Given the description of an element on the screen output the (x, y) to click on. 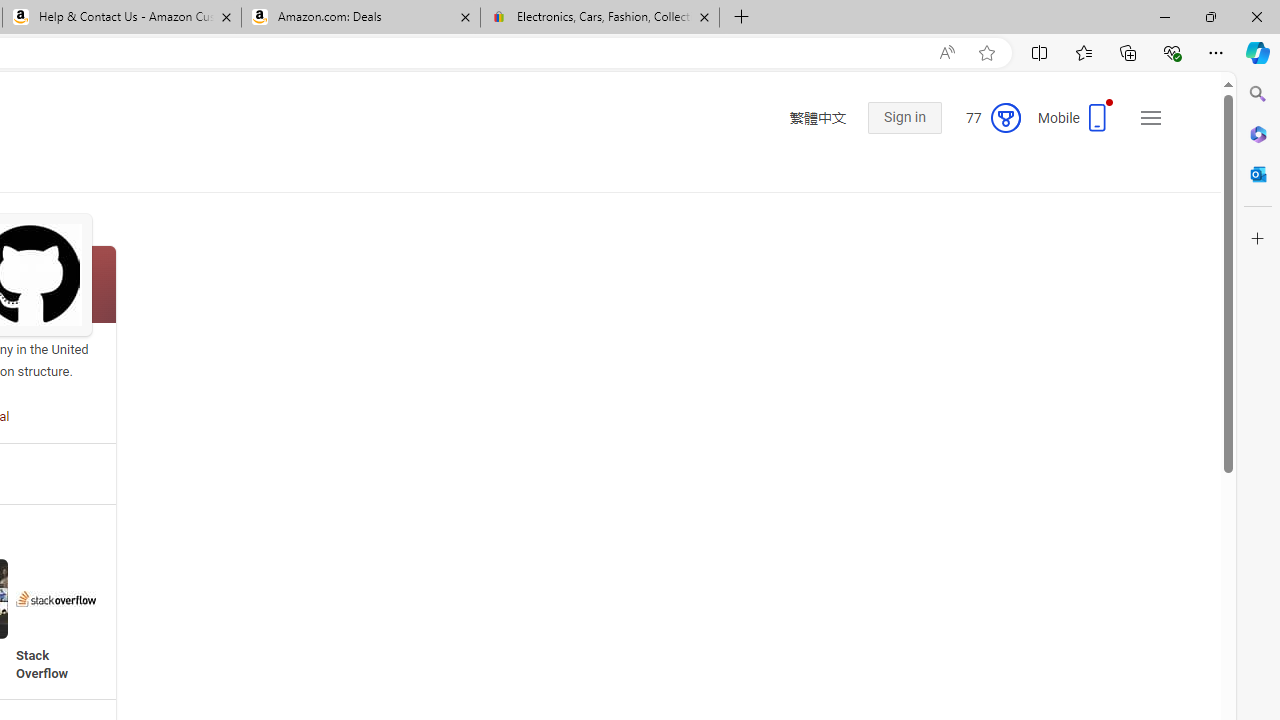
Stack Overflow (55, 620)
Microsoft Rewards  (985, 119)
Sign in (904, 119)
Amazon.com: Deals (360, 17)
AutomationID: rh_meter (1005, 117)
Sign in (904, 117)
